Given the description of an element on the screen output the (x, y) to click on. 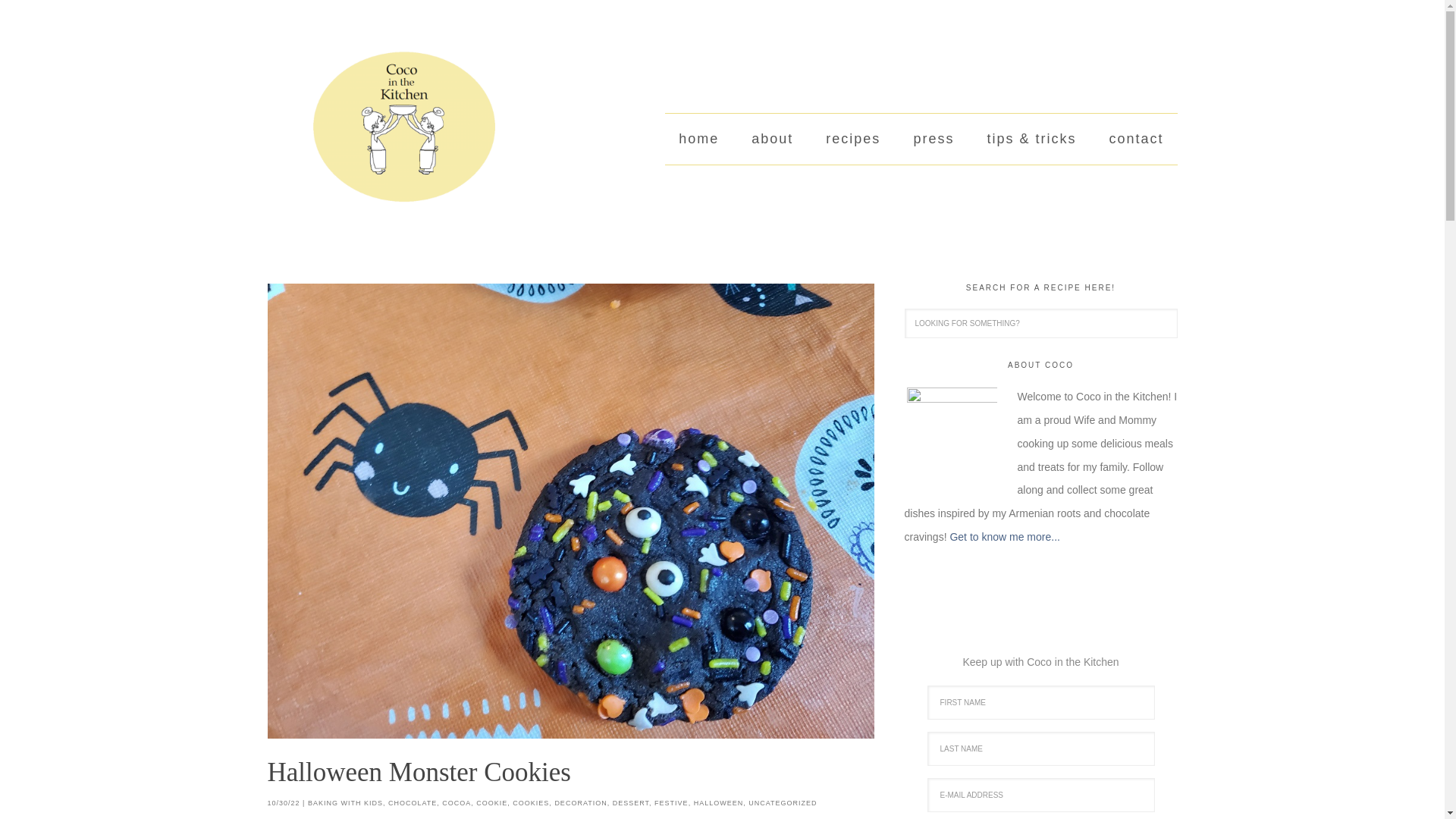
COOKIES (530, 802)
UNCATEGORIZED (782, 802)
CHOCOLATE (412, 802)
COOKIE (491, 802)
home (698, 138)
recipes (852, 138)
contact (1135, 138)
DECORATION (580, 802)
BAKING WITH KIDS (344, 802)
FESTIVE (670, 802)
HALLOWEEN (719, 802)
press (933, 138)
DESSERT (630, 802)
about (772, 138)
